Given the description of an element on the screen output the (x, y) to click on. 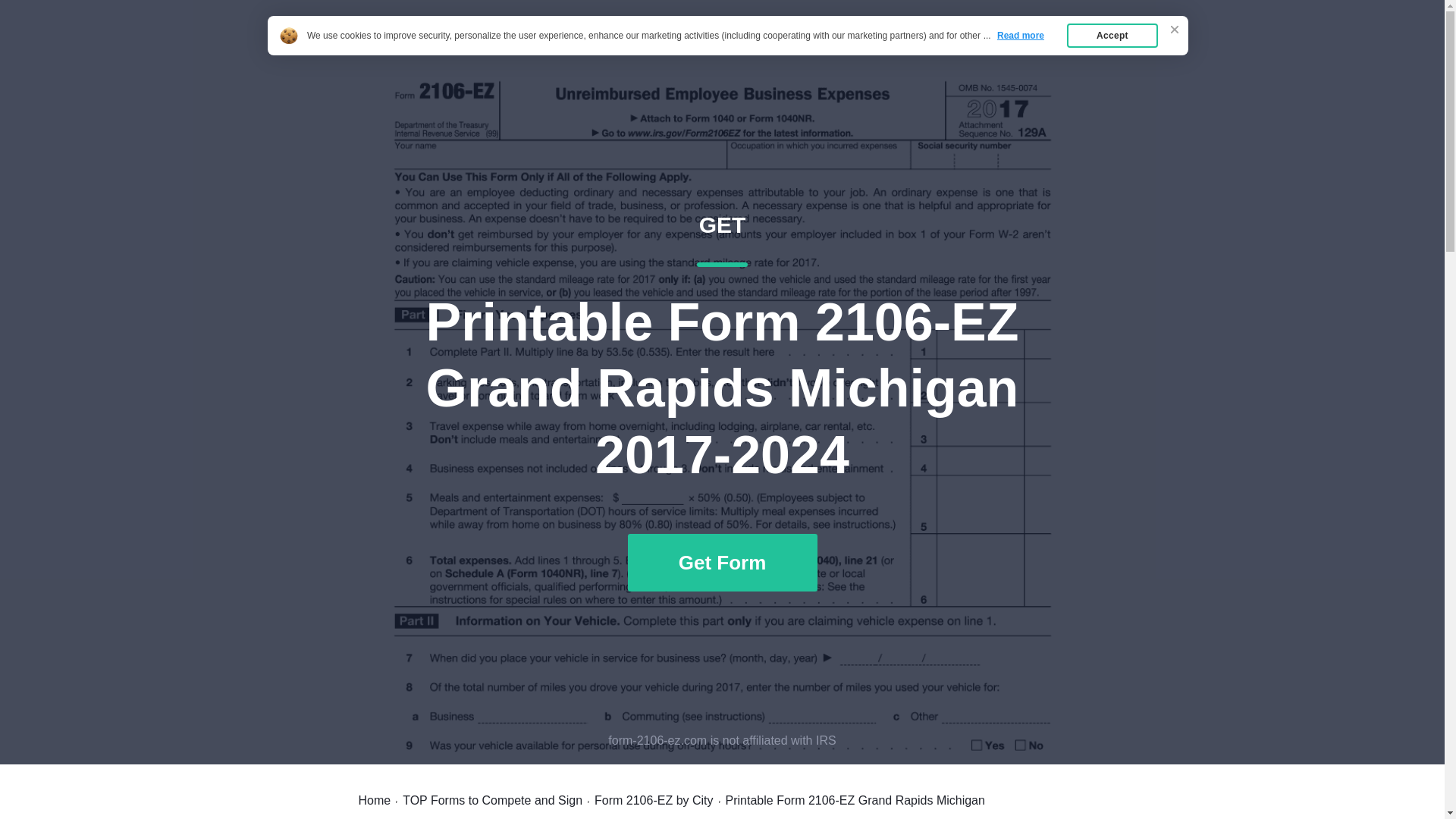
Top Forms (1062, 47)
Home (374, 800)
Form 2106-EZ by City (653, 800)
Home (987, 47)
TOP Forms to Compete and Sign (492, 800)
Form 2106 Ez (410, 46)
